Given the description of an element on the screen output the (x, y) to click on. 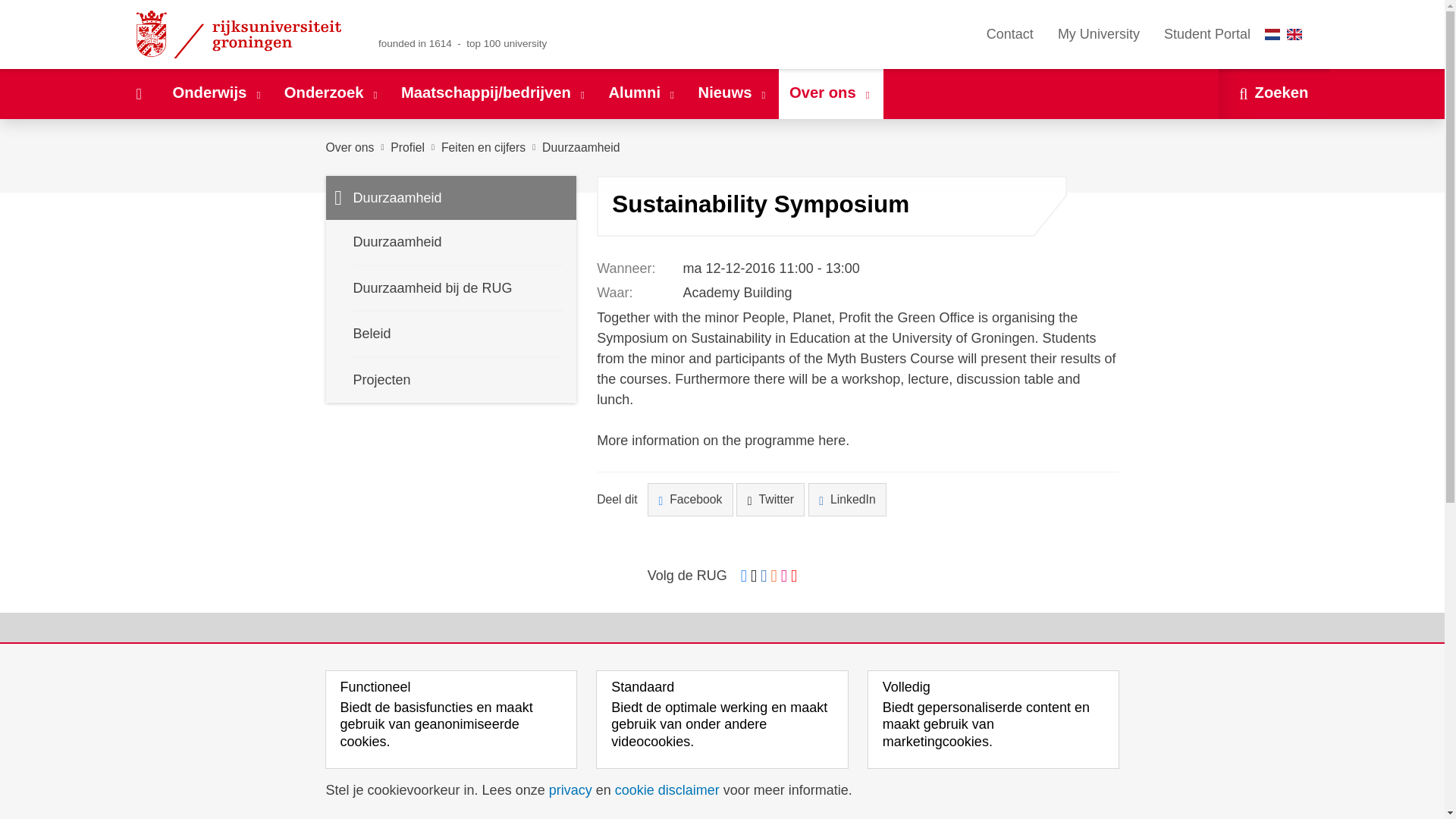
Taal selectie (1286, 34)
Onderzoek (331, 93)
Rijksuniversiteit Groningen (241, 34)
Home (138, 93)
English (1293, 33)
Contact (1009, 34)
My University (1098, 34)
Nederlands (1272, 33)
Onderwijs (217, 93)
